Given the description of an element on the screen output the (x, y) to click on. 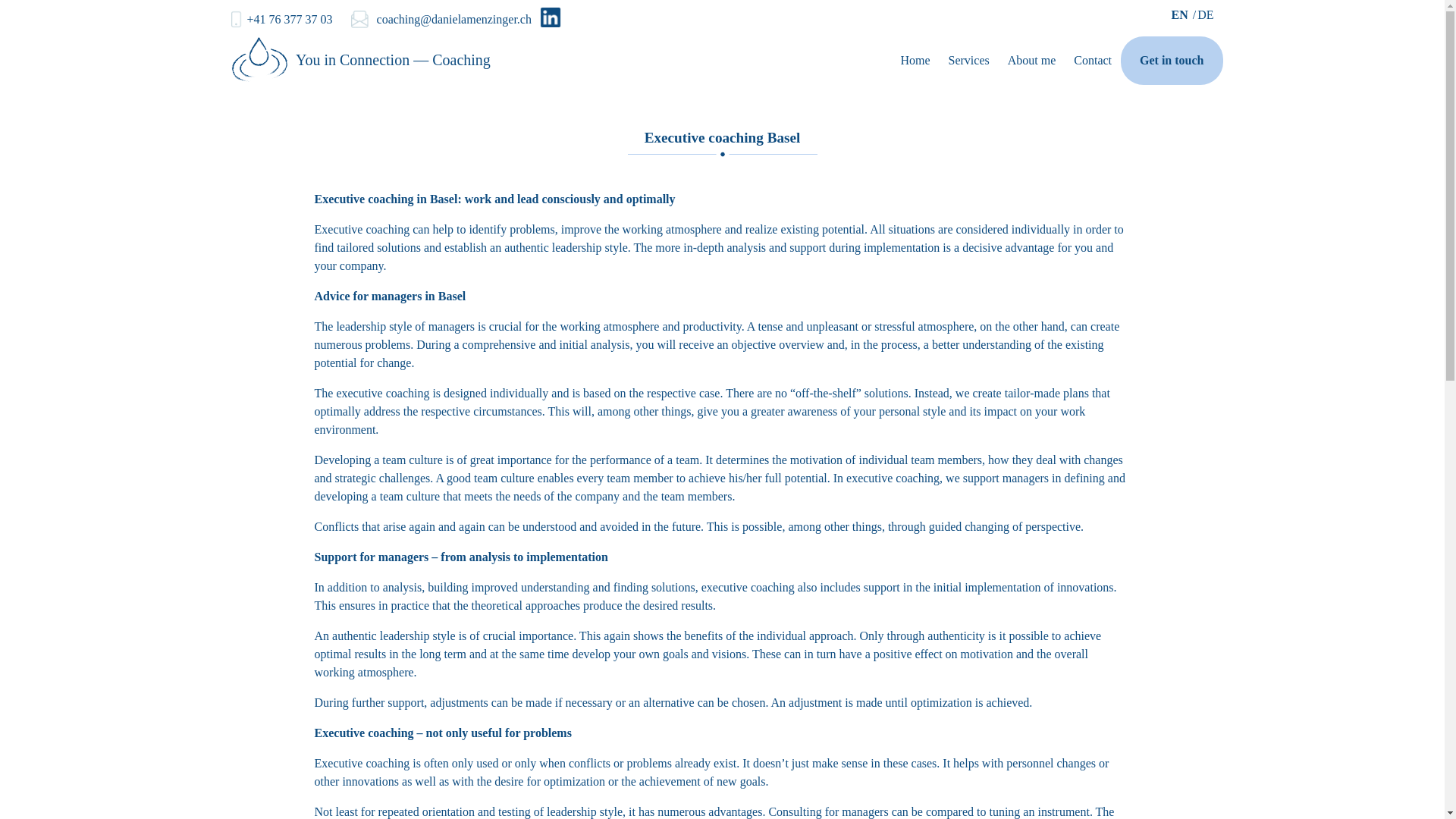
Contact (1092, 60)
Services (968, 60)
DE (1204, 14)
Home (914, 60)
About me (1031, 60)
Get in touch (1172, 60)
